Given the description of an element on the screen output the (x, y) to click on. 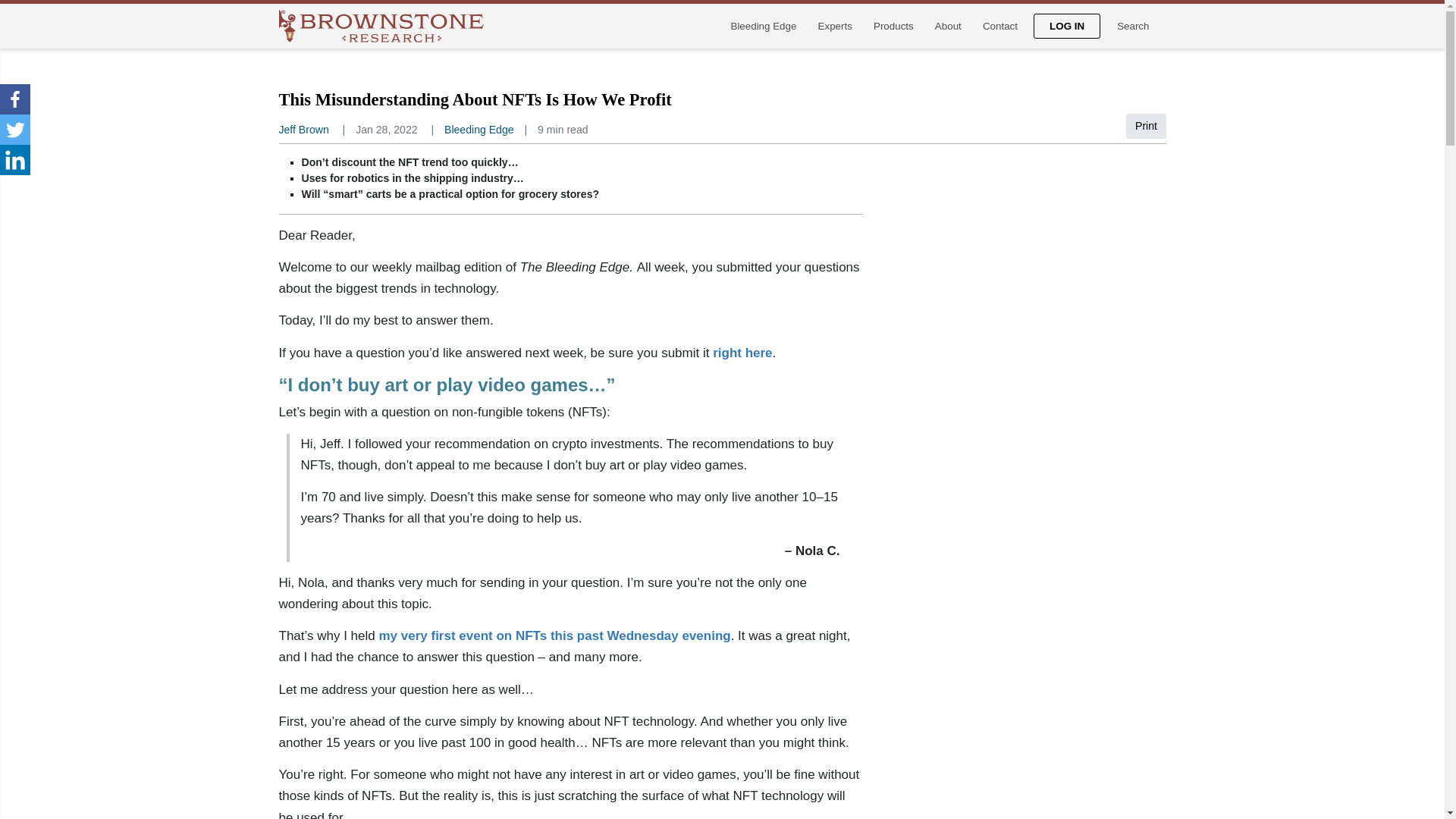
About (948, 25)
right here (742, 352)
Experts (834, 25)
LOG IN (1066, 25)
Twitter (15, 129)
Jeff Brown (304, 129)
Search (1133, 25)
Print (1146, 125)
Facebook (15, 99)
my very first event on NFTs this past Wednesday evening (554, 635)
Linkedin (15, 159)
Bleeding Edge (478, 129)
Contact (999, 25)
Products (892, 25)
Bleeding Edge (763, 25)
